Given the description of an element on the screen output the (x, y) to click on. 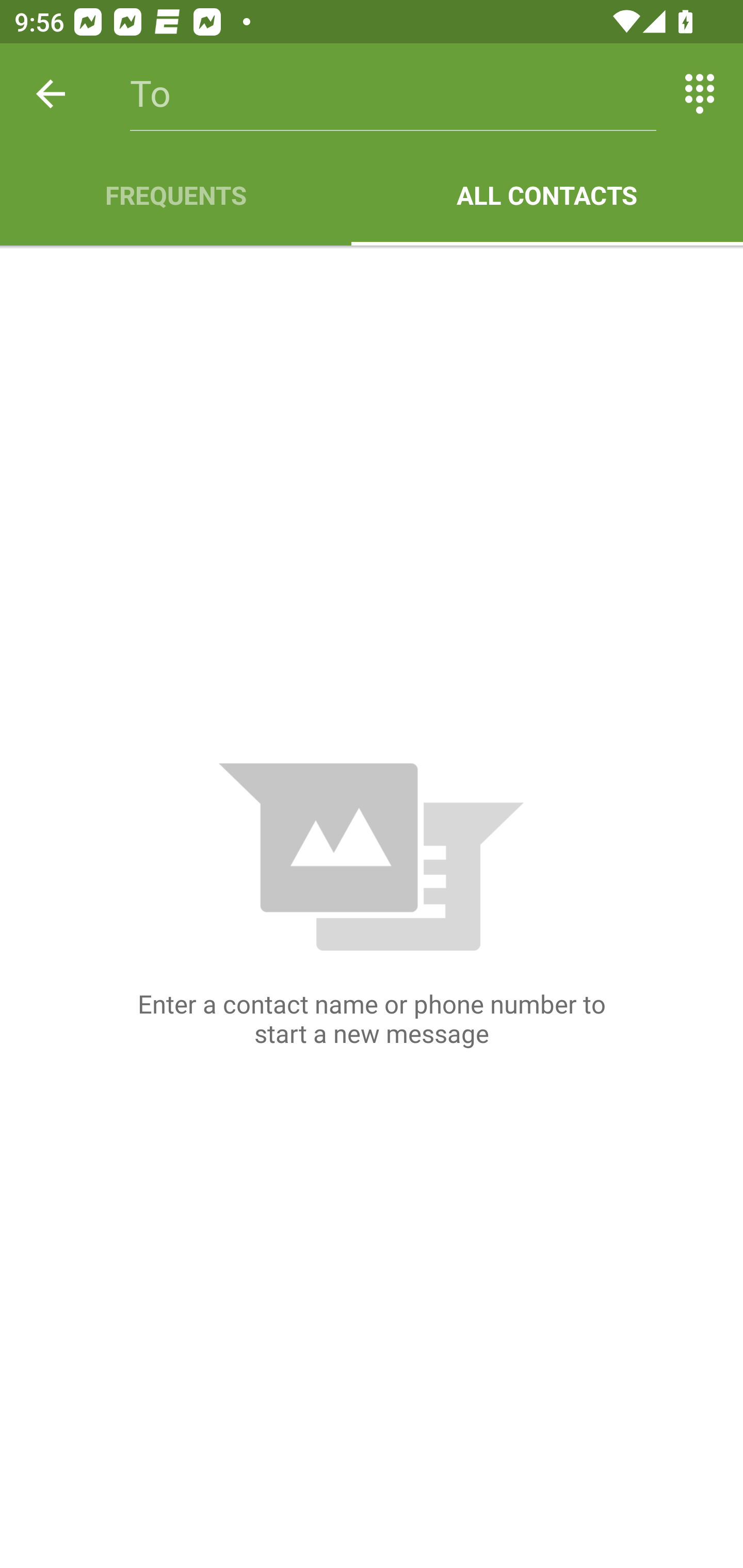
Back (50, 93)
Switch between entering text and numbers (699, 93)
To (393, 93)
FREQUENTS (175, 195)
ALL CONTACTS (547, 195)
